Given the description of an element on the screen output the (x, y) to click on. 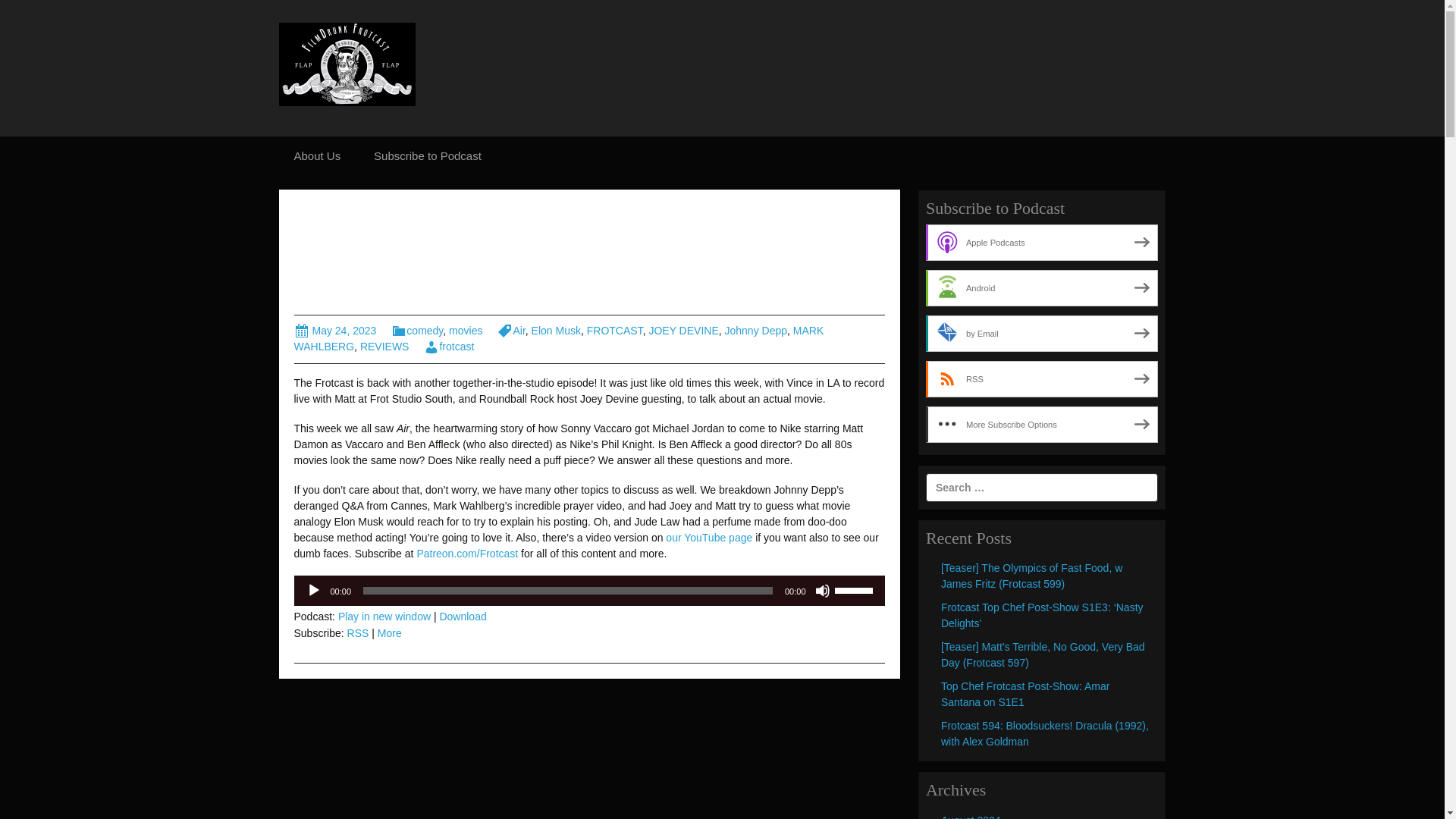
by Email (1041, 333)
May 24, 2023 (335, 330)
More (389, 633)
Johnny Depp (756, 330)
Subscribe via RSS (1041, 379)
The FilmDrunk Frotcast (346, 63)
comedy (416, 330)
Play in new window (383, 616)
Download (462, 616)
